Given the description of an element on the screen output the (x, y) to click on. 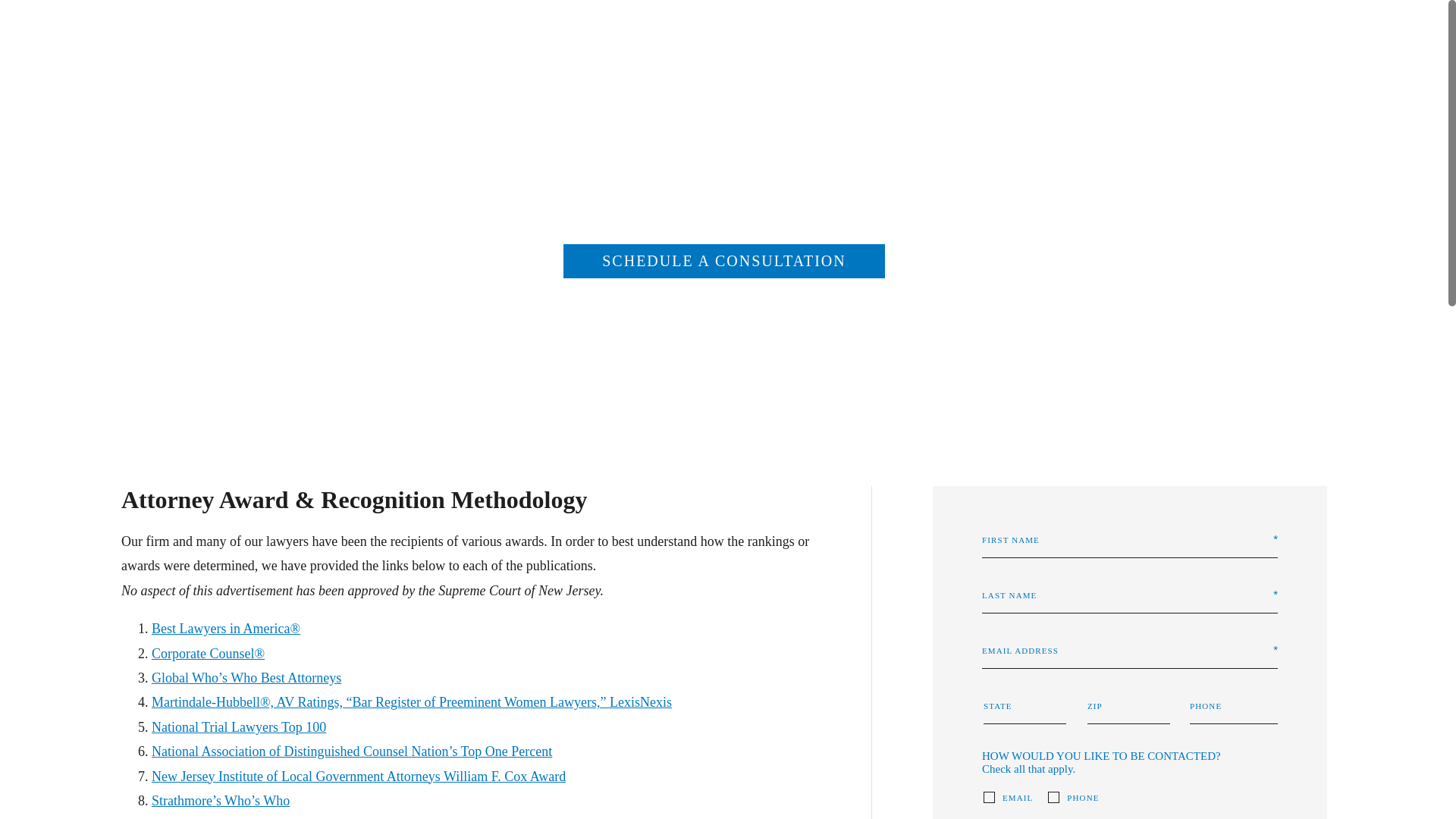
RESOURCES (931, 59)
DEPARTMENTS (713, 59)
ATTORNEYS (827, 59)
SERVICE AREA (1044, 59)
